Given the description of an element on the screen output the (x, y) to click on. 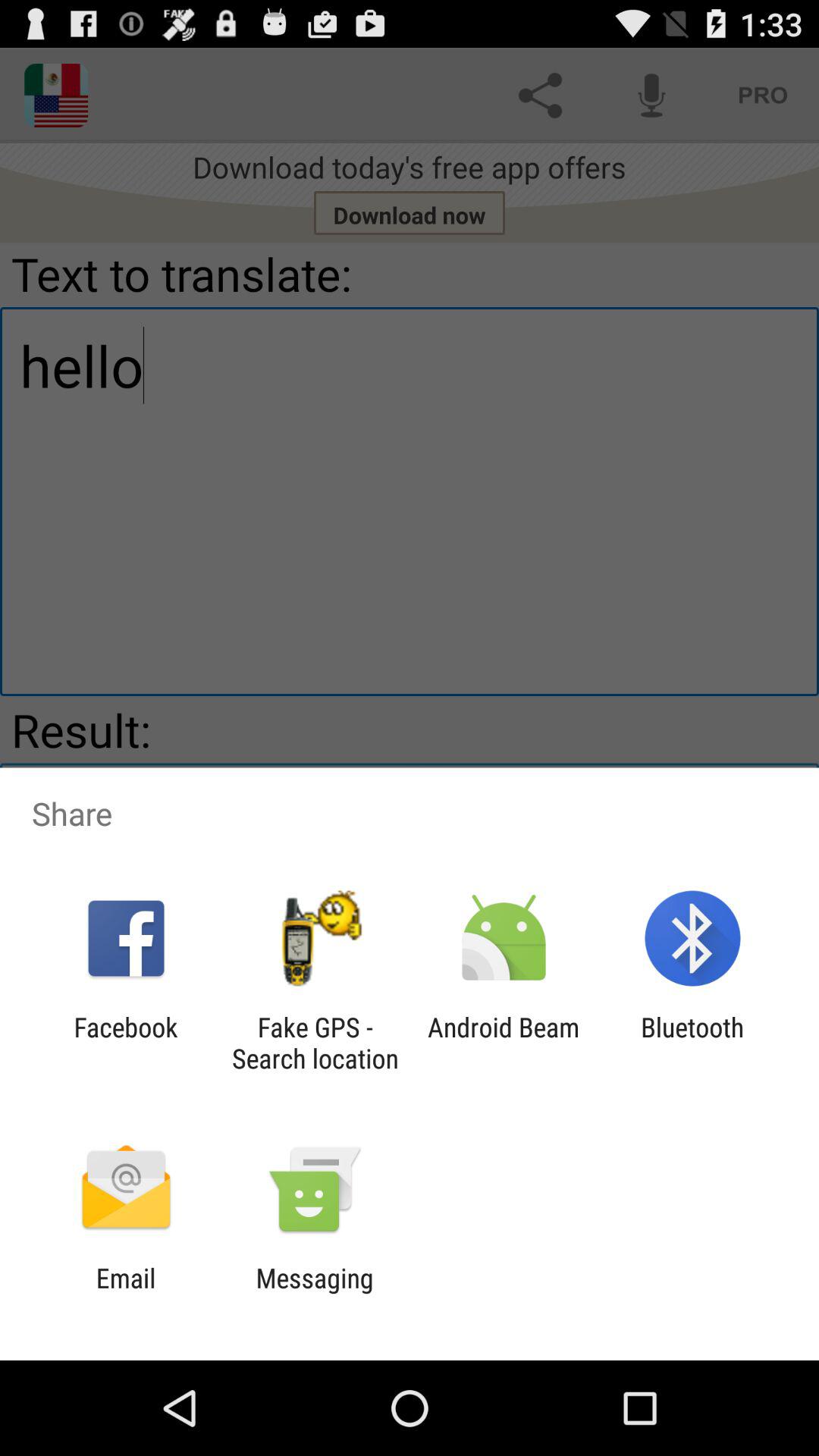
launch app next to fake gps search (125, 1042)
